Given the description of an element on the screen output the (x, y) to click on. 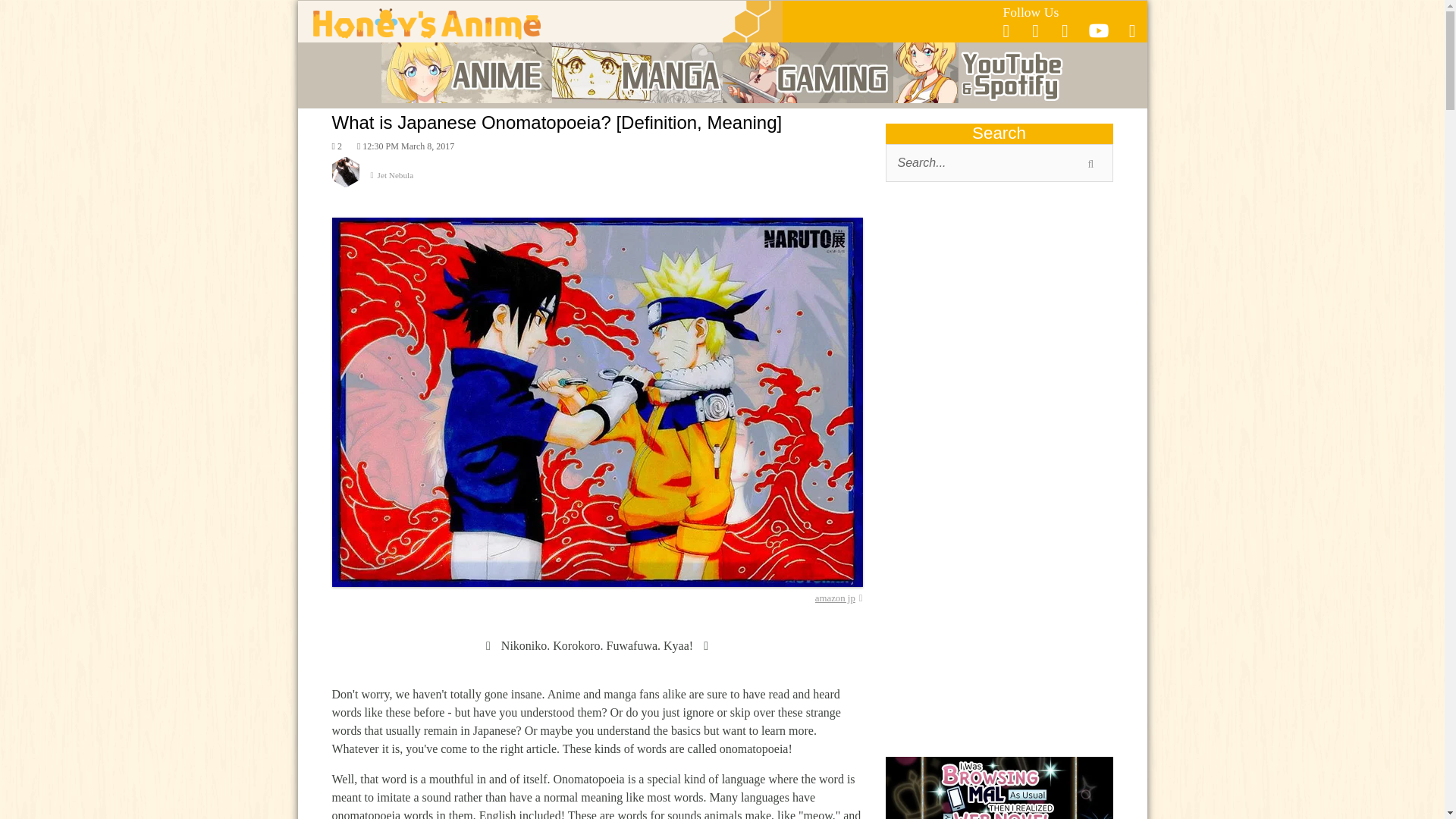
Our Youtube (1098, 35)
amazon jp (839, 597)
Search... (999, 162)
Search... (999, 162)
Advertisement (999, 313)
Jet Nebula (597, 181)
banner-honeyfeed-malcontest (999, 787)
